Given the description of an element on the screen output the (x, y) to click on. 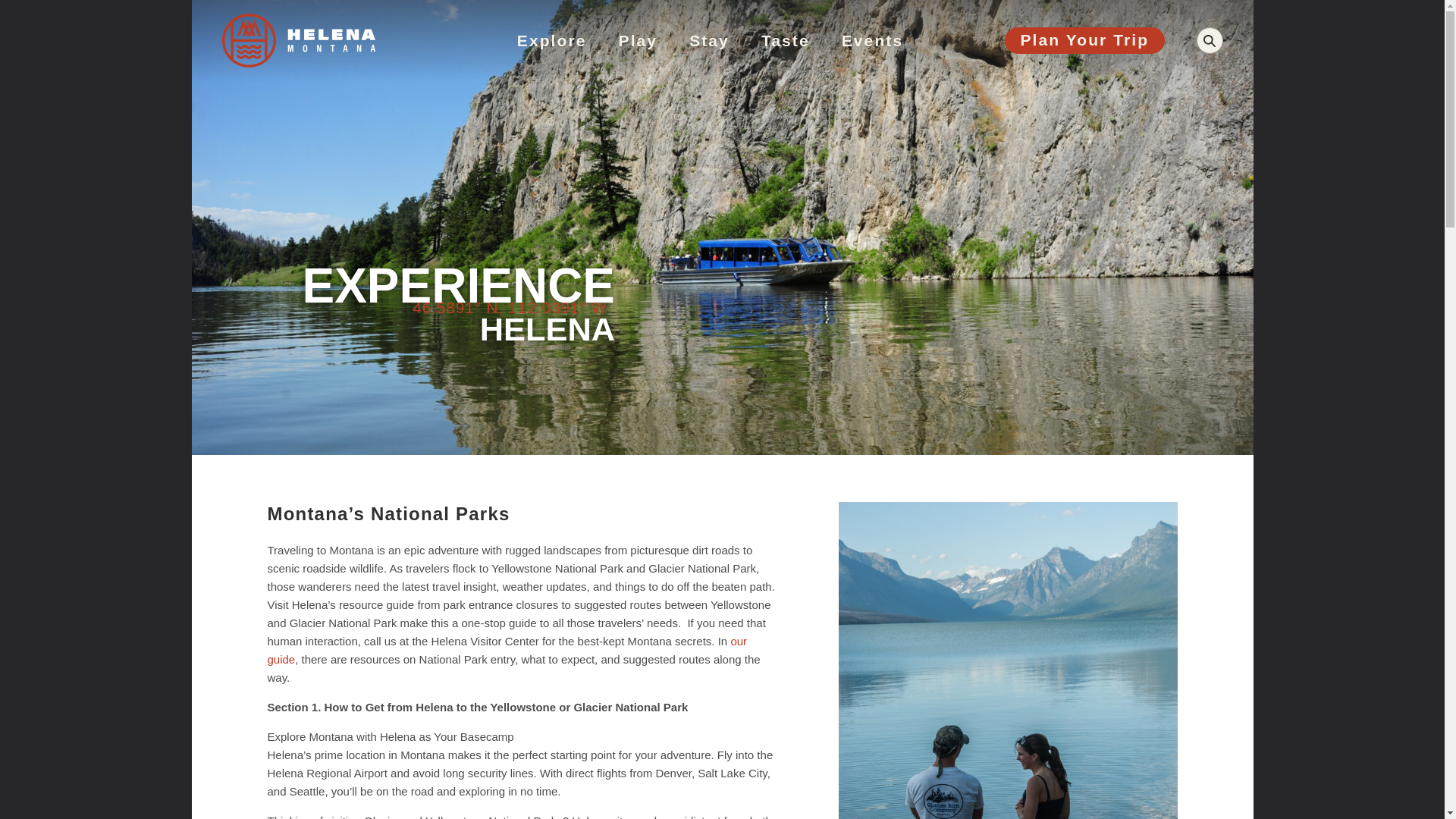
Plan Your Trip (1084, 40)
Taste (786, 40)
Stay (708, 40)
Play (638, 40)
Explore (551, 40)
Events (872, 40)
our guide (506, 649)
